Given the description of an element on the screen output the (x, y) to click on. 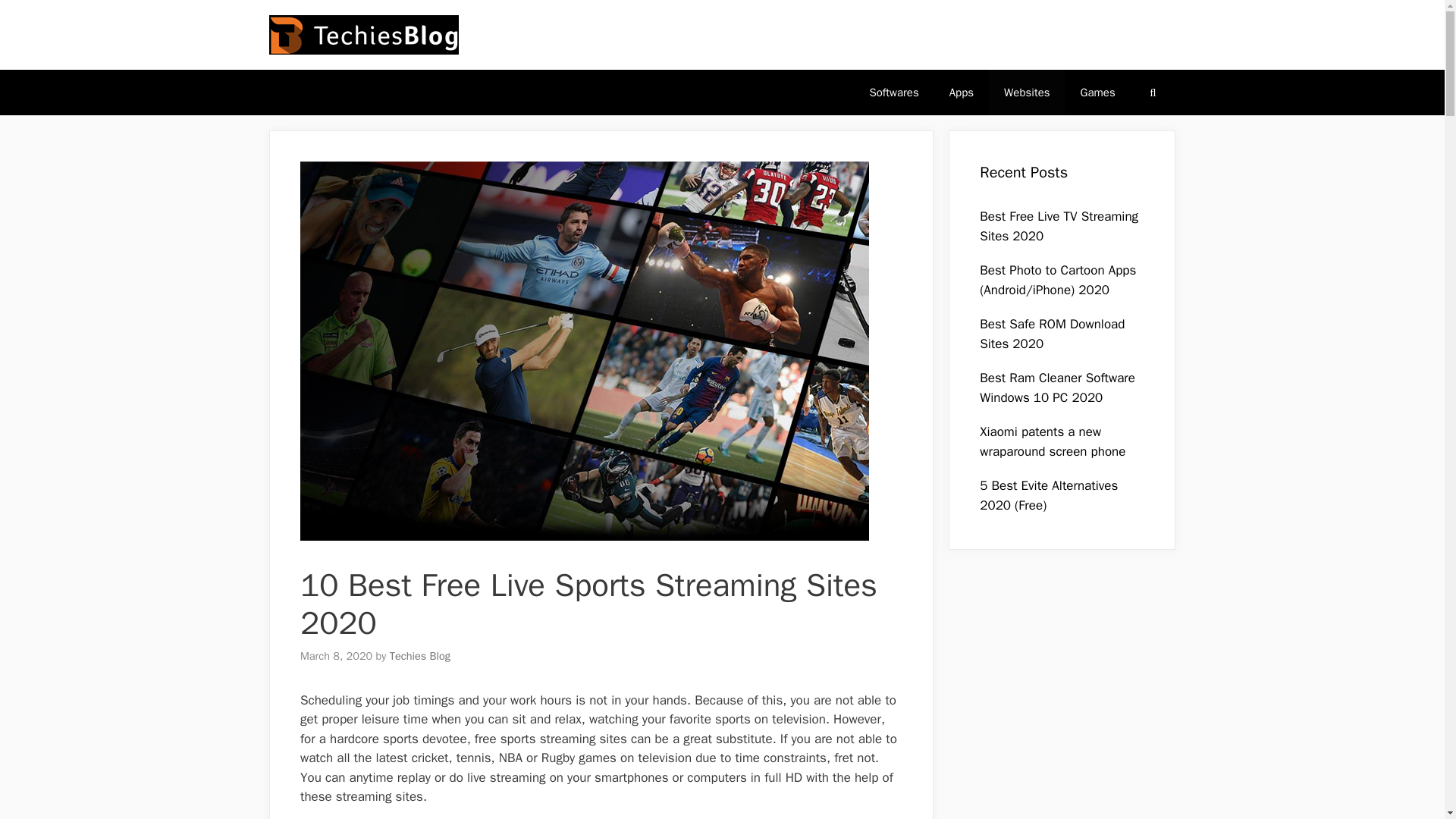
Best Ram Cleaner Software Windows 10 PC 2020 (1057, 387)
Apps (961, 92)
Best Safe ROM Download Sites 2020 (1051, 334)
Xiaomi patents a new wraparound screen phone (1052, 441)
Techies Blog (419, 655)
View all posts by Techies Blog (419, 655)
Softwares (893, 92)
Websites (1026, 92)
Games (1098, 92)
Best Free Live TV Streaming Sites 2020 (1058, 226)
